Given the description of an element on the screen output the (x, y) to click on. 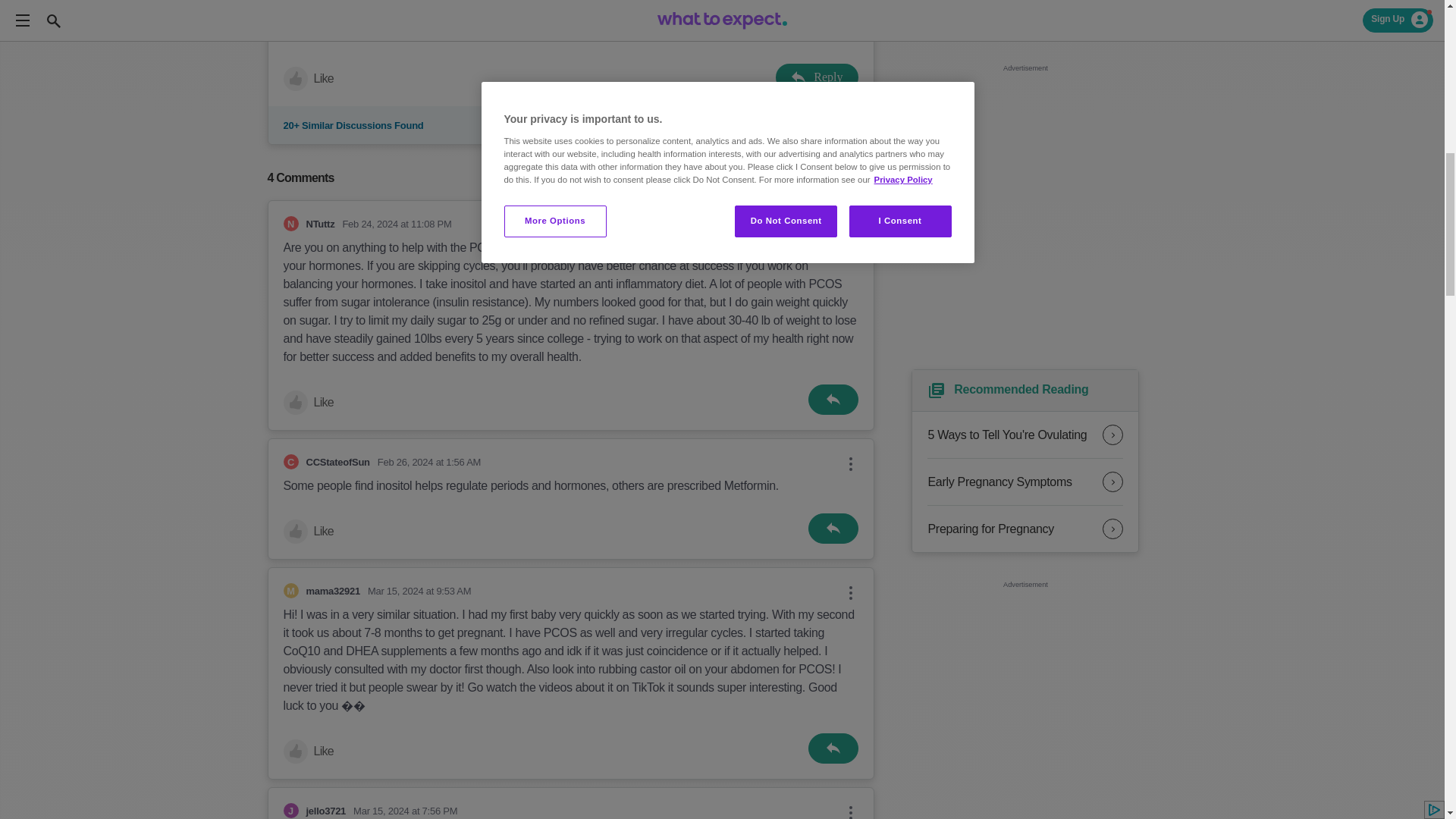
5 Ways to Tell You're Ovulating (1024, 434)
Early Pregnancy Symptoms (1024, 482)
Preparing for Pregnancy (1024, 529)
